Given the description of an element on the screen output the (x, y) to click on. 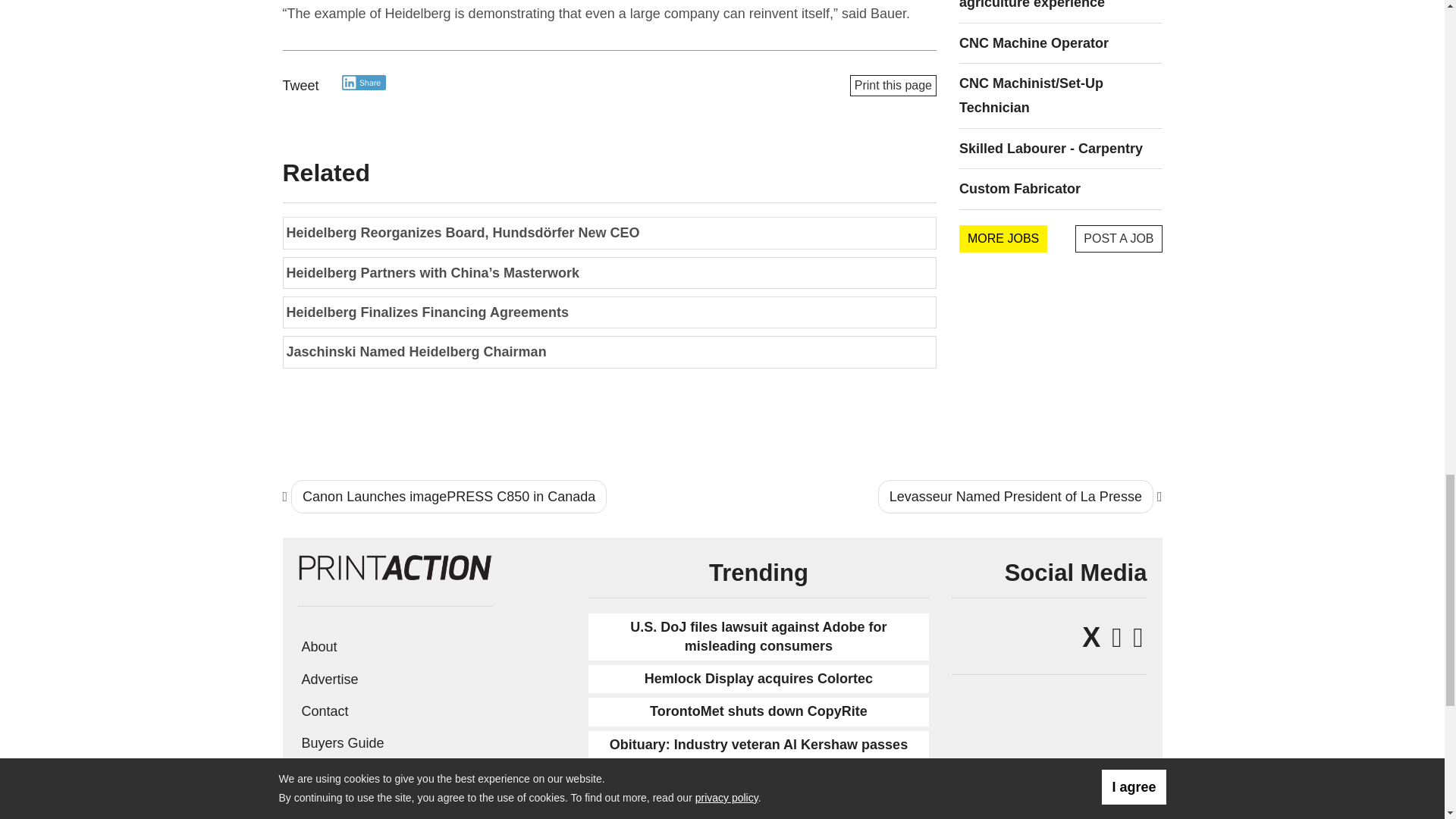
PrintAction (395, 566)
